Given the description of an element on the screen output the (x, y) to click on. 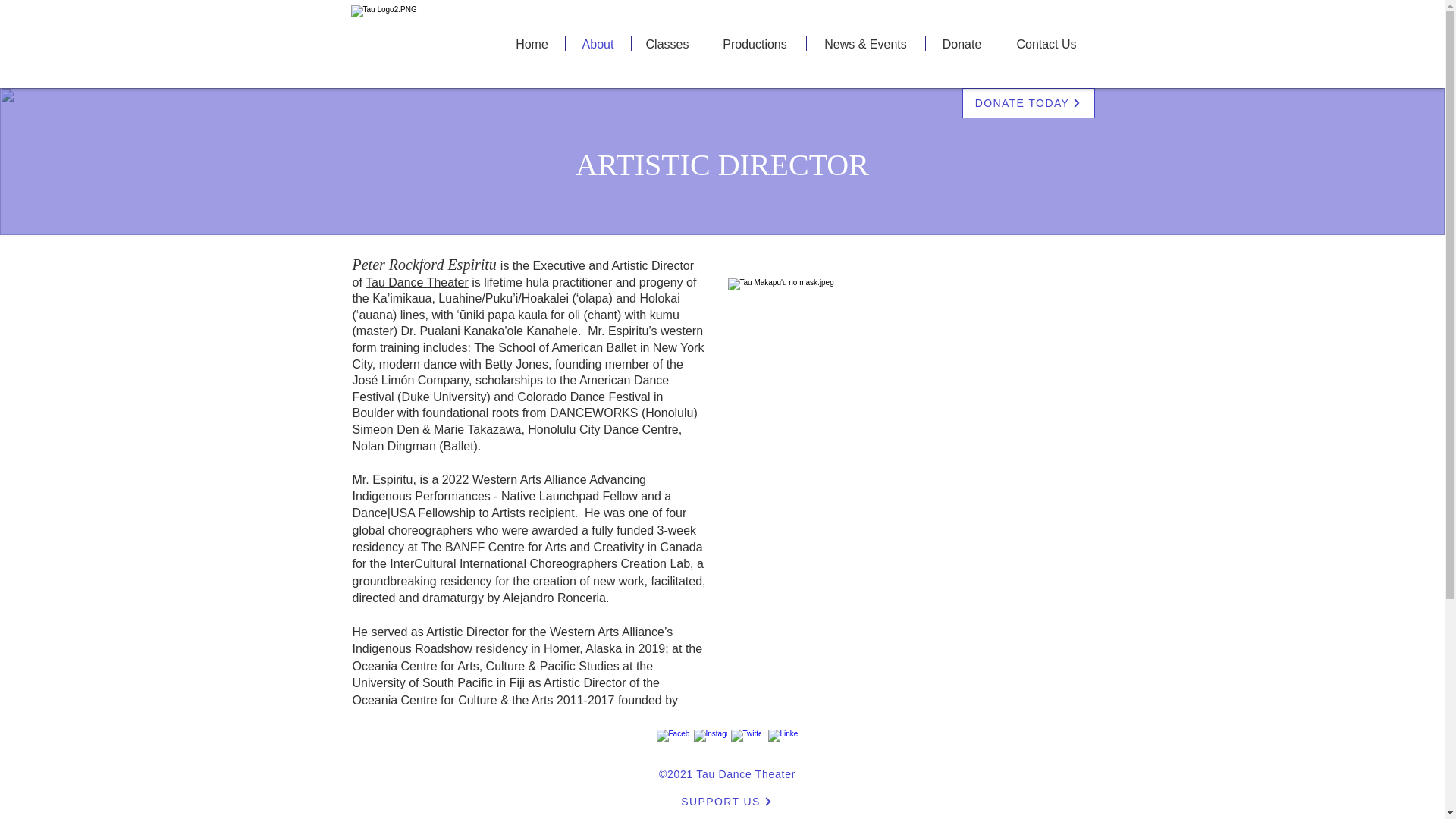
Donate (960, 43)
Contact Us (1046, 43)
Tau Dance Theater (416, 282)
SUPPORT US (726, 800)
Classes (666, 43)
DONATE TODAY (1027, 102)
Home (531, 43)
Productions (754, 43)
About (598, 43)
